Given the description of an element on the screen output the (x, y) to click on. 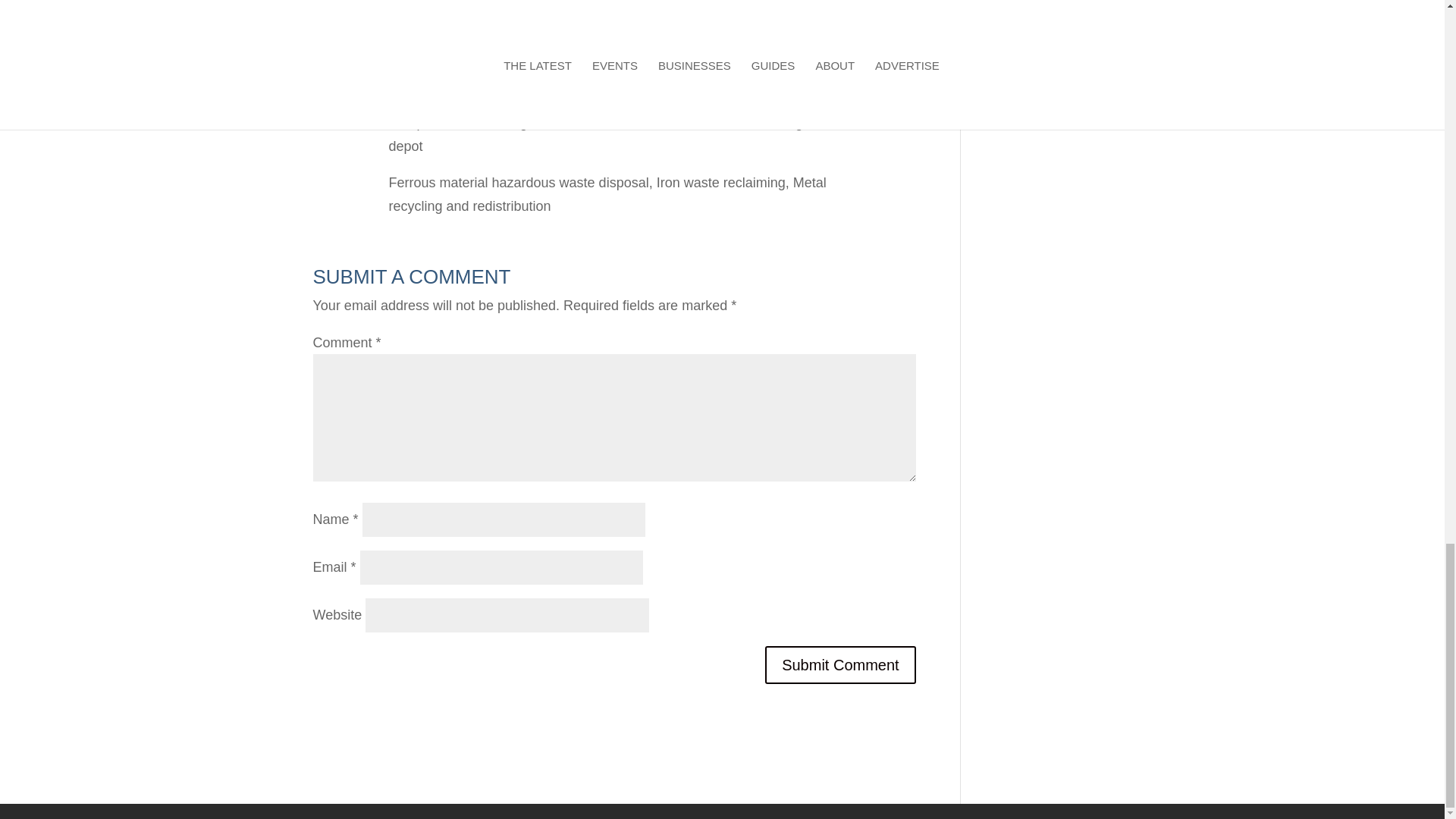
Ferrous metal contracts (660, 122)
Iron scrap yard (432, 93)
Ferrous metal contracts (660, 122)
Submit Comment (840, 664)
Submit Comment (840, 664)
